Given the description of an element on the screen output the (x, y) to click on. 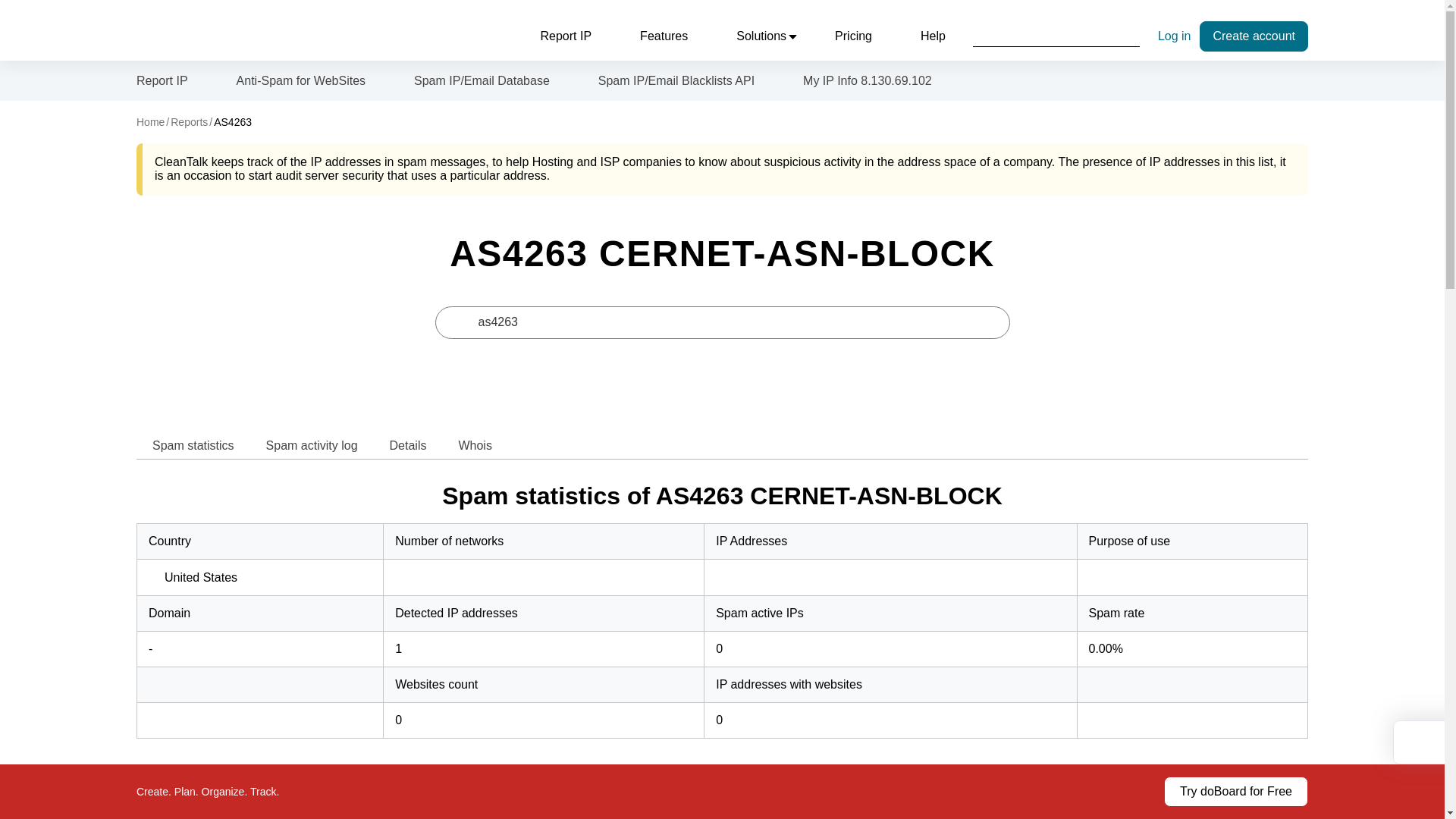
Help (932, 35)
as4263 (722, 322)
Anti-Spam for WebSites (300, 80)
United States (192, 577)
Search (1056, 35)
Log in (1174, 35)
as4263 (722, 322)
Pricing (853, 35)
Home (150, 121)
My IP Info 8.130.69.102 (867, 80)
